Given the description of an element on the screen output the (x, y) to click on. 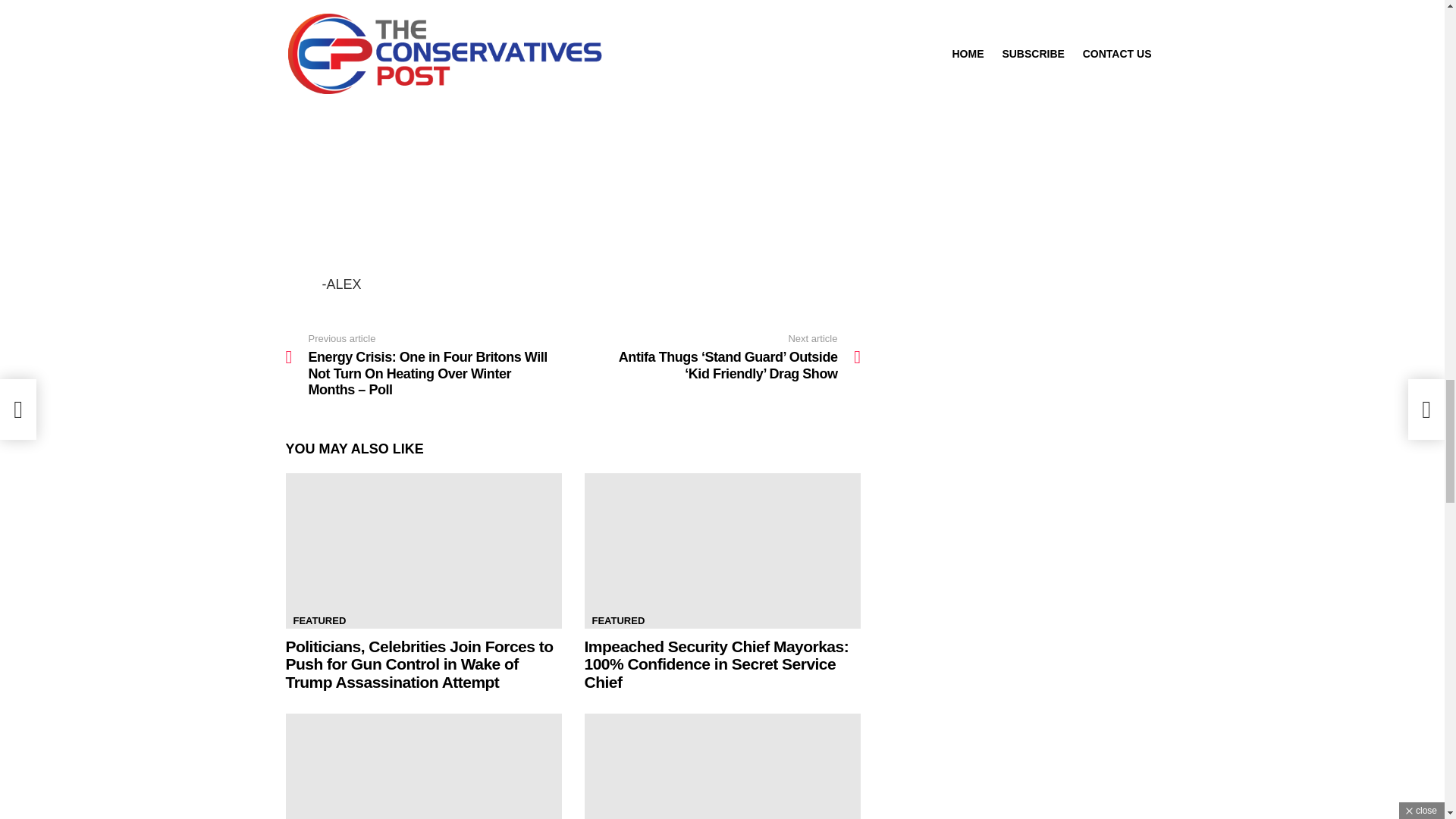
FEATURED (617, 620)
FEATURED (319, 620)
